Given the description of an element on the screen output the (x, y) to click on. 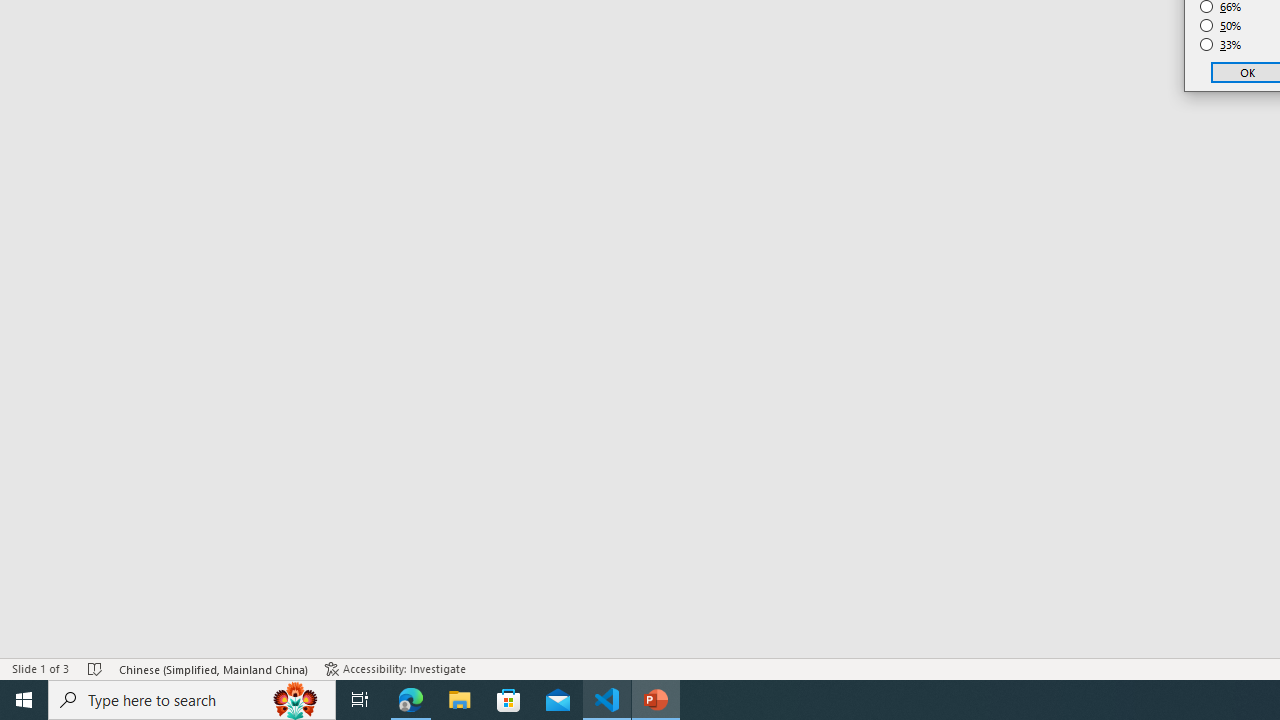
Task View (359, 699)
Search highlights icon opens search home window (295, 699)
File Explorer (460, 699)
Microsoft Store (509, 699)
33% (1221, 44)
Visual Studio Code - 1 running window (607, 699)
50% (1221, 25)
Type here to search (191, 699)
Start (24, 699)
Microsoft Edge - 1 running window (411, 699)
PowerPoint - 1 running window (656, 699)
